Given the description of an element on the screen output the (x, y) to click on. 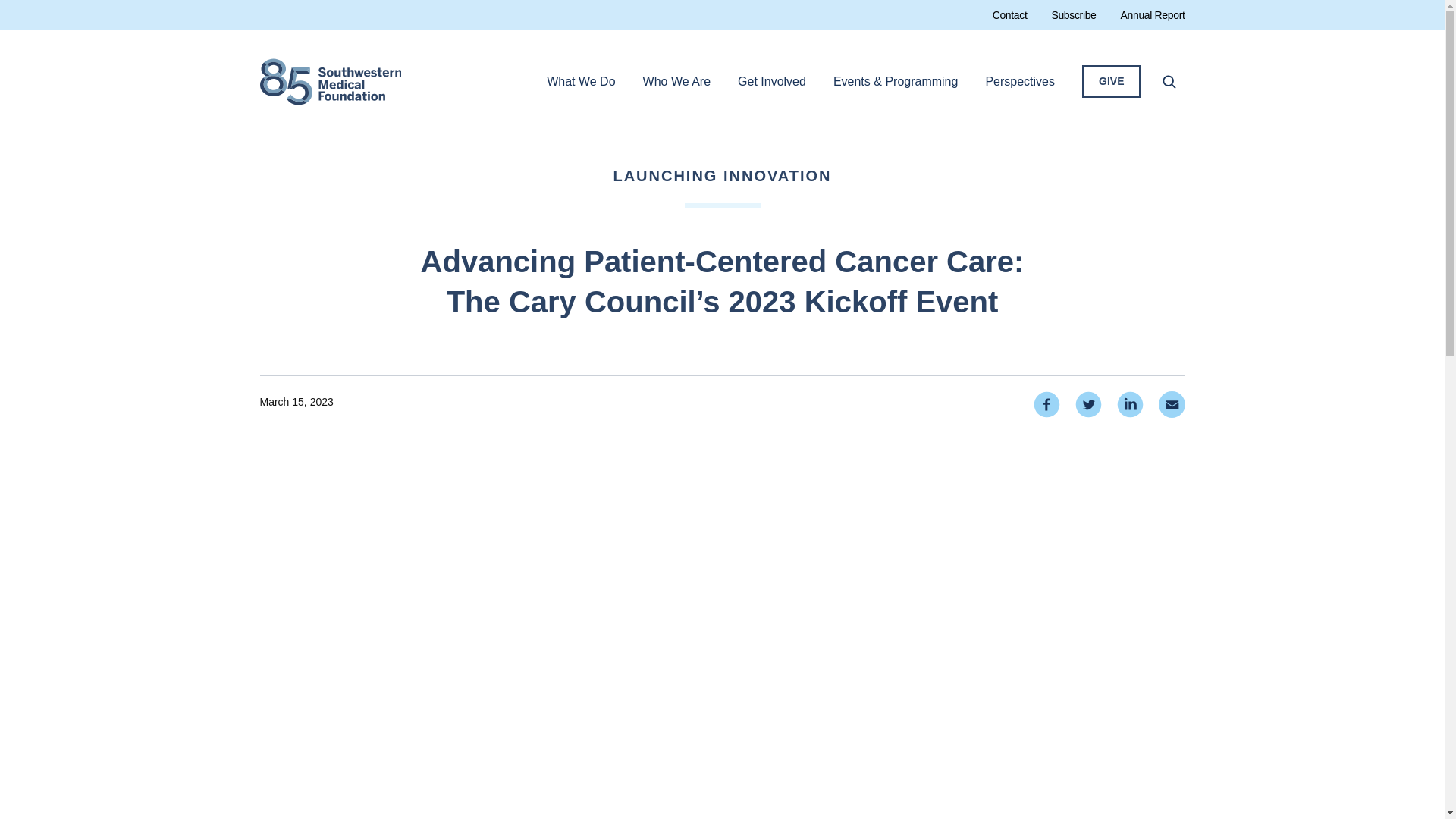
Search (330, 81)
Home (1169, 81)
Contact (330, 81)
logo (1009, 15)
GIVE (329, 81)
Annual Report (1110, 81)
Who We Are (1146, 15)
Get Involved (677, 82)
What We Do (772, 82)
